Given the description of an element on the screen output the (x, y) to click on. 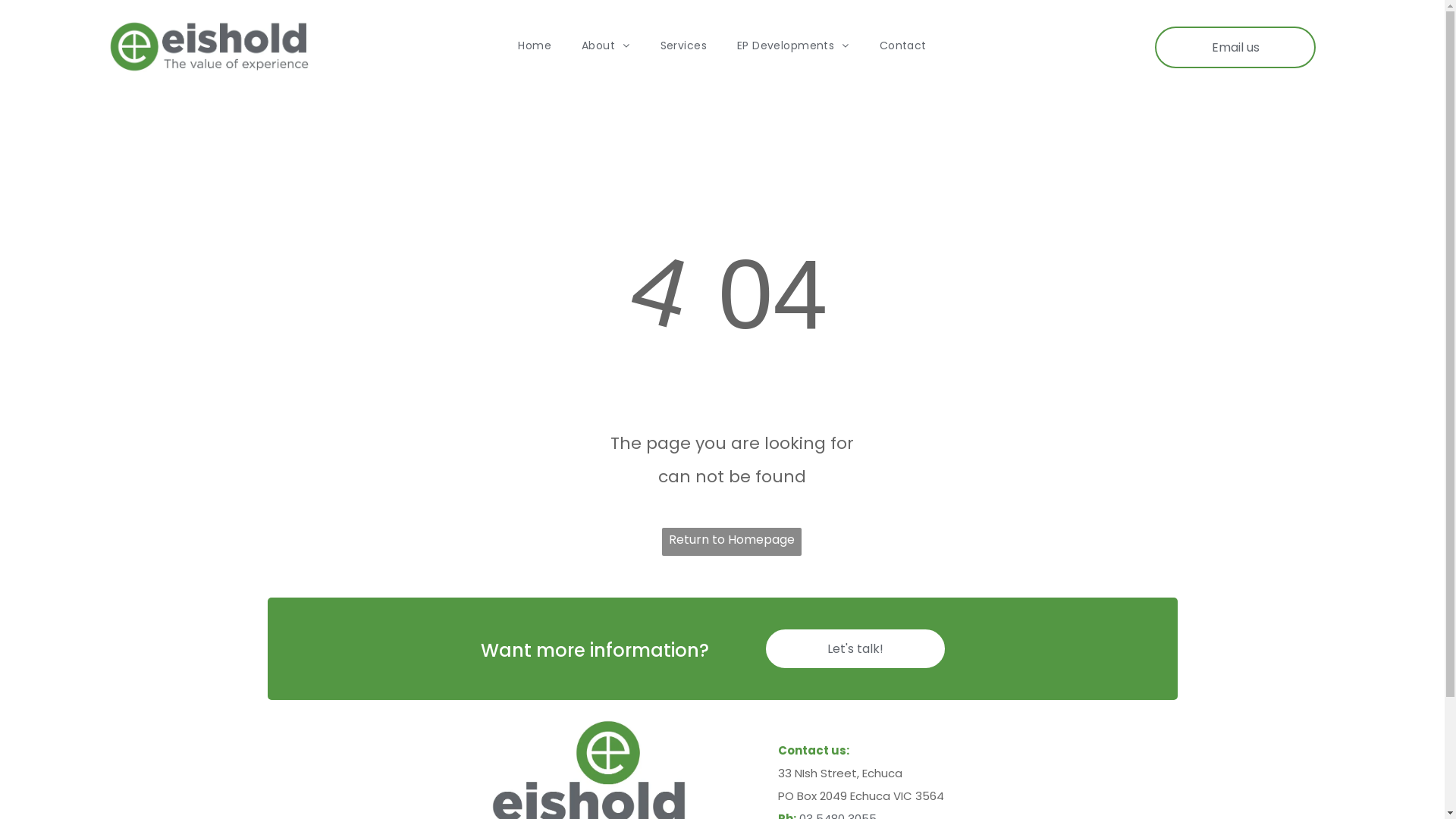
EP Developments Element type: text (792, 45)
Services Element type: text (683, 45)
Return to Homepage Element type: text (731, 541)
Let's talk! Element type: text (855, 648)
About Element type: text (605, 45)
Home Element type: text (534, 45)
Contact Element type: text (902, 45)
Email us Element type: text (1234, 47)
